Given the description of an element on the screen output the (x, y) to click on. 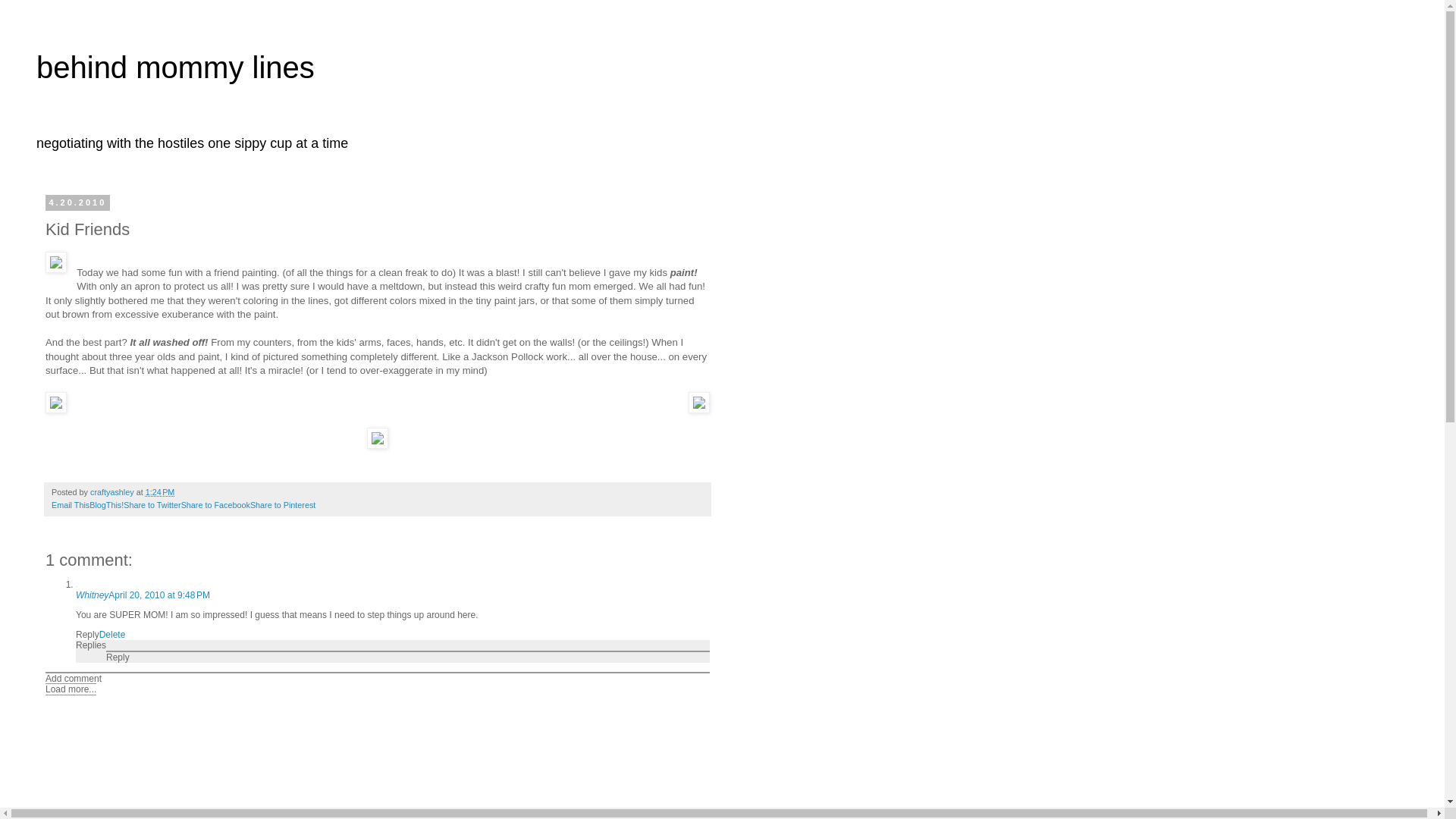
craftyashley (113, 491)
Load more... (70, 689)
Share to Pinterest (282, 504)
Share to Twitter (151, 504)
Add comment (73, 678)
Share to Facebook (215, 504)
Share to Twitter (151, 504)
author profile (113, 491)
Whitney (91, 594)
Email This (69, 504)
Reply (117, 656)
behind mommy lines (175, 67)
Replies (90, 644)
BlogThis! (105, 504)
